Given the description of an element on the screen output the (x, y) to click on. 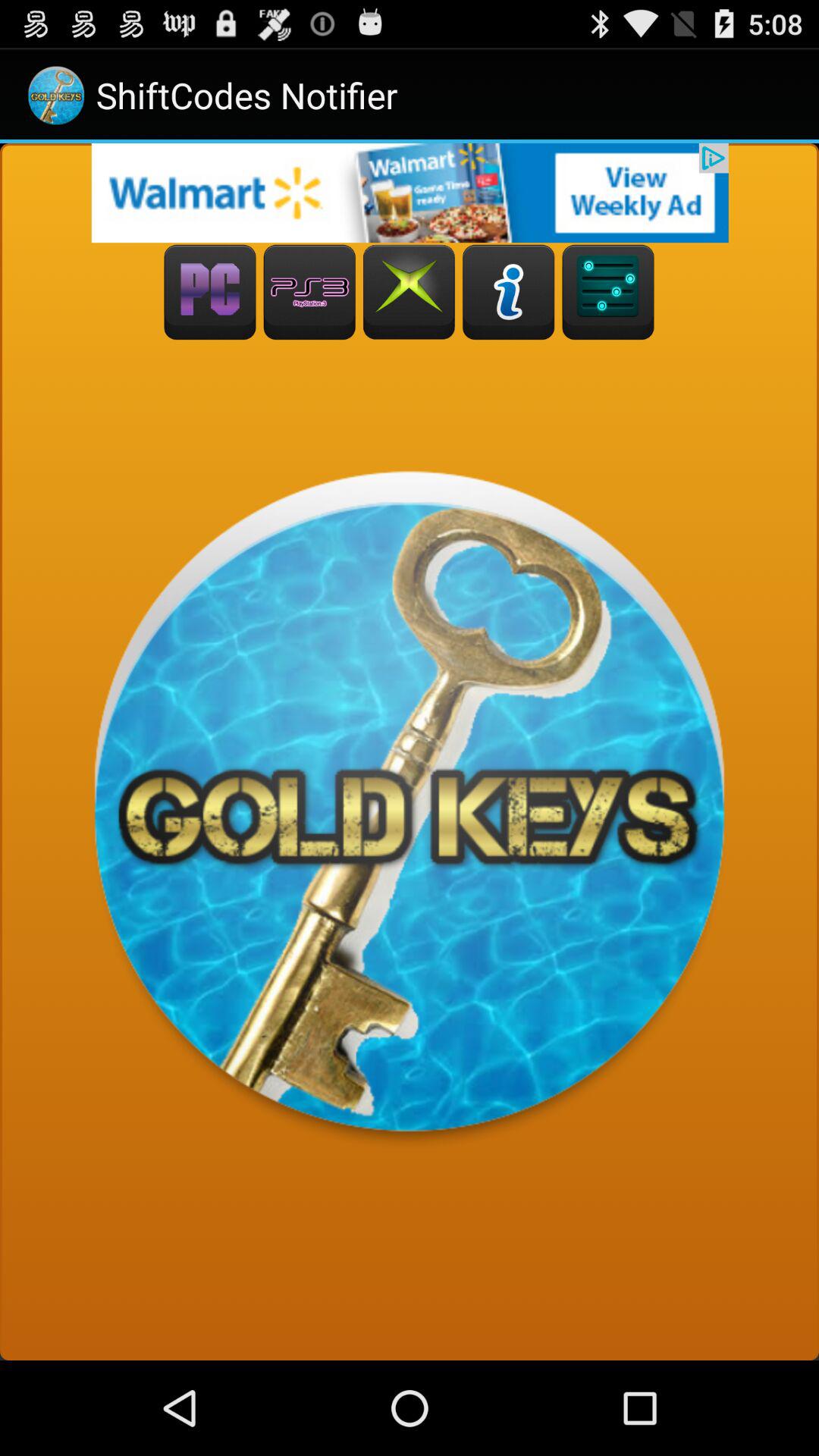
click option (309, 292)
